Given the description of an element on the screen output the (x, y) to click on. 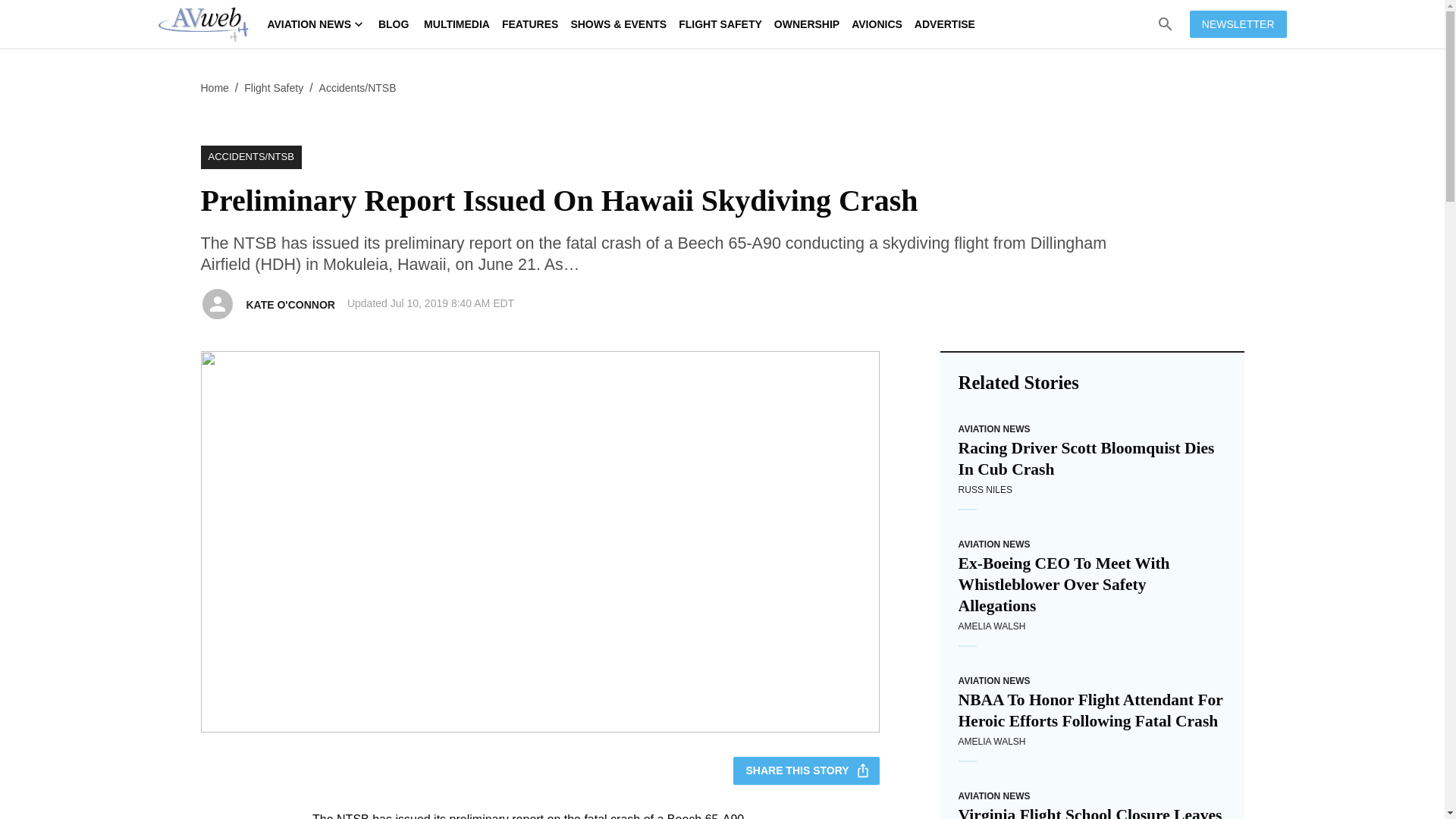
KATE O'CONNOR (290, 304)
AVIATION NEWS (994, 543)
AVIATION NEWS (994, 796)
ADVERTISE (944, 24)
Racing Driver Scott Bloomquist Dies In Cub Crash (1091, 458)
BLOG (393, 24)
AVIONICS (876, 24)
NEWSLETTER (1238, 24)
Virginia Flight School Closure Leaves Students Stranded (1091, 811)
AVIATION NEWS (994, 680)
